Given the description of an element on the screen output the (x, y) to click on. 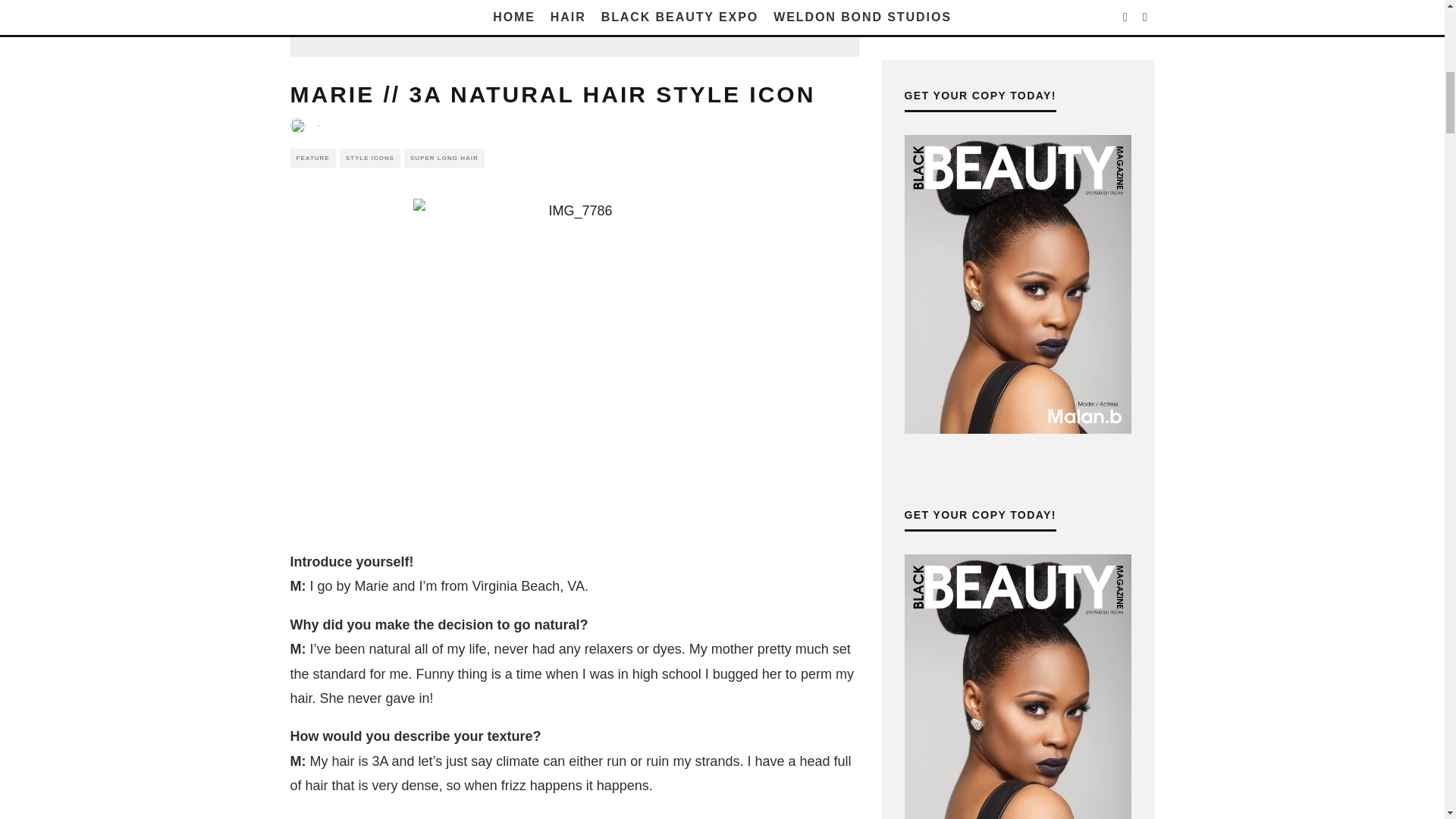
STYLE ICONS (369, 158)
FEATURE (311, 158)
SUPER LONG HAIR (444, 158)
